Given the description of an element on the screen output the (x, y) to click on. 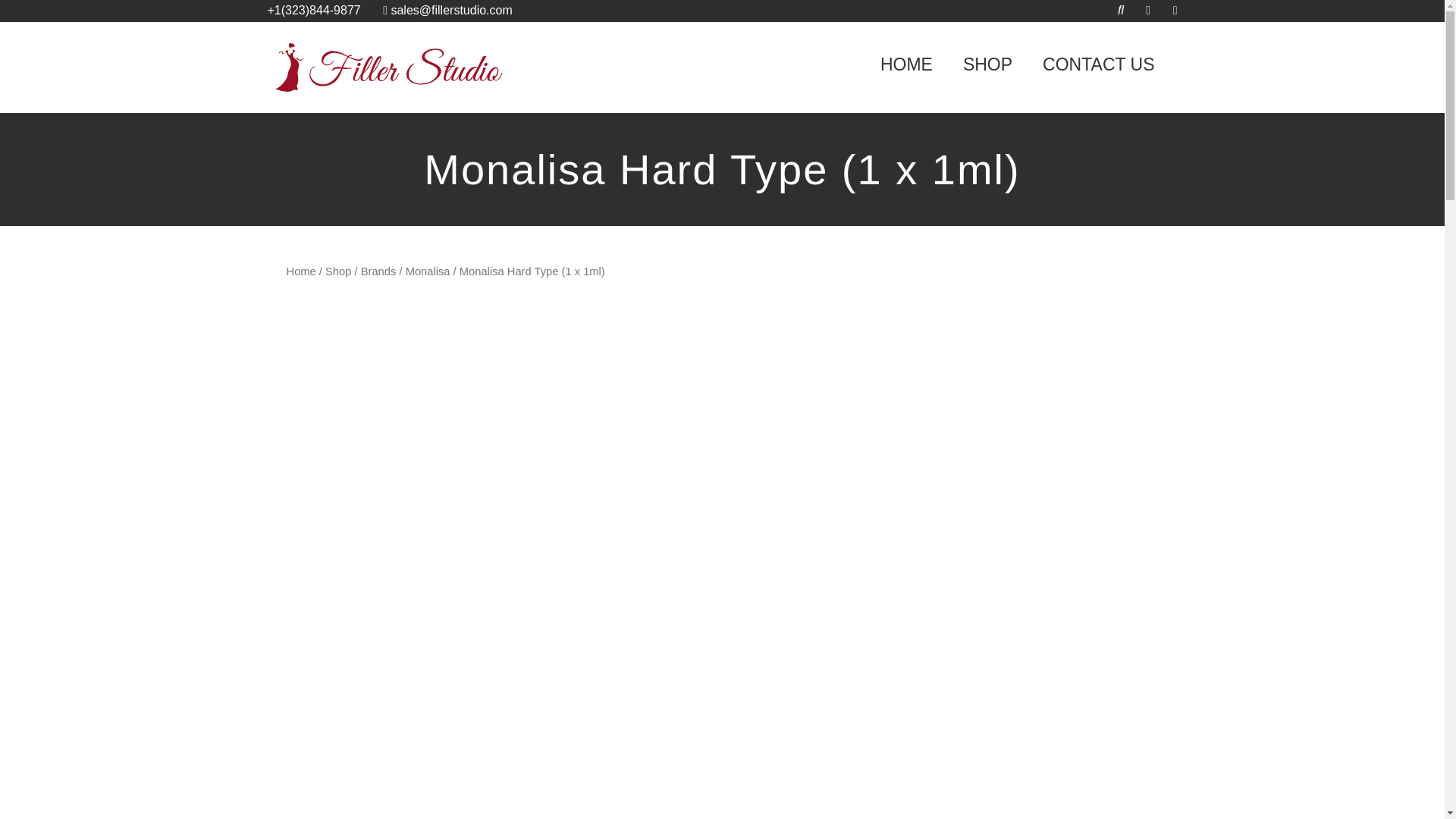
Home (300, 271)
CONTACT US (1098, 64)
Monalisa (427, 271)
SEARCH (1156, 4)
Shop (337, 271)
SHOP (987, 64)
Brands (378, 271)
HOME (905, 64)
